Given the description of an element on the screen output the (x, y) to click on. 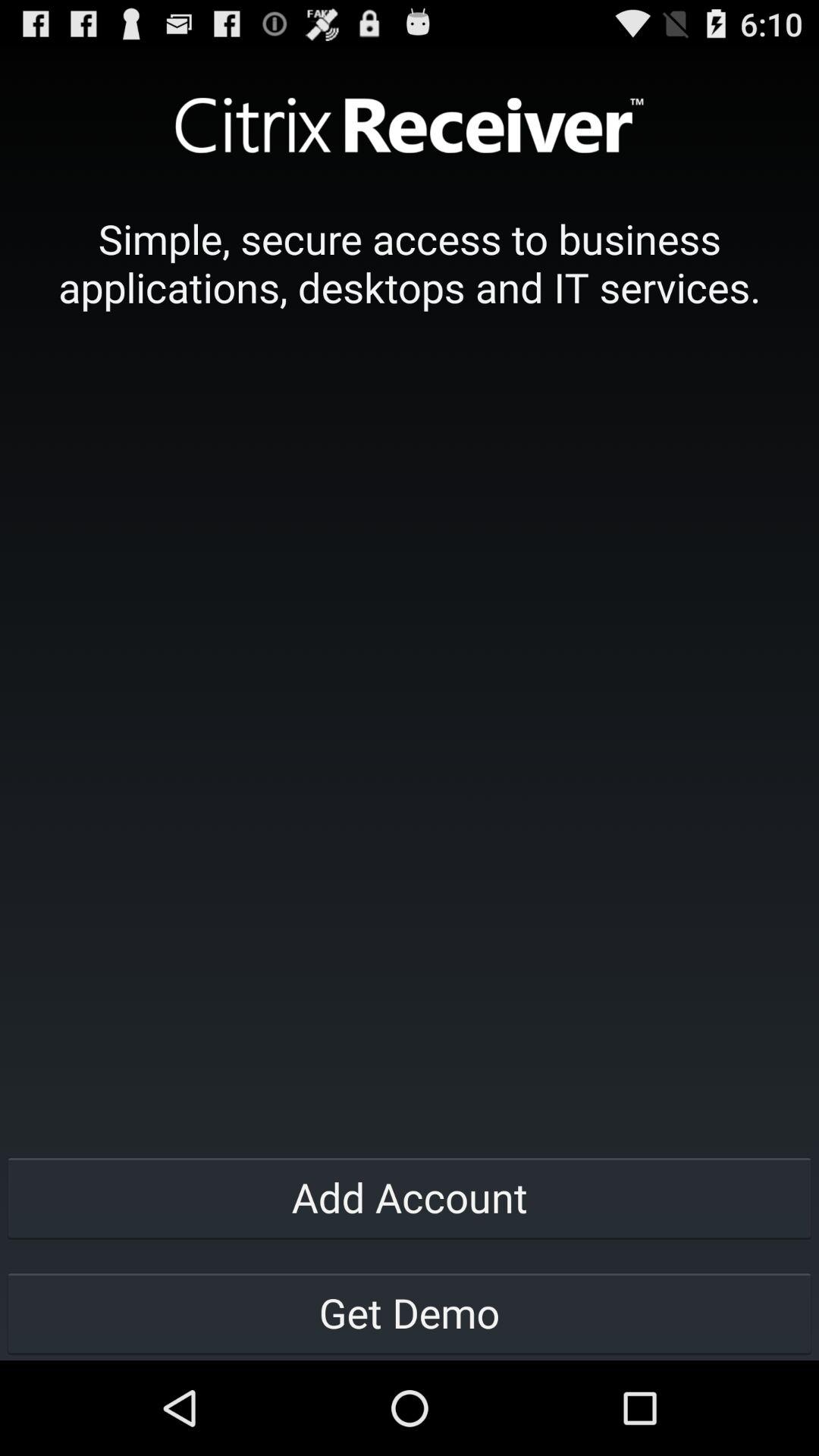
press icon below add account (409, 1312)
